Given the description of an element on the screen output the (x, y) to click on. 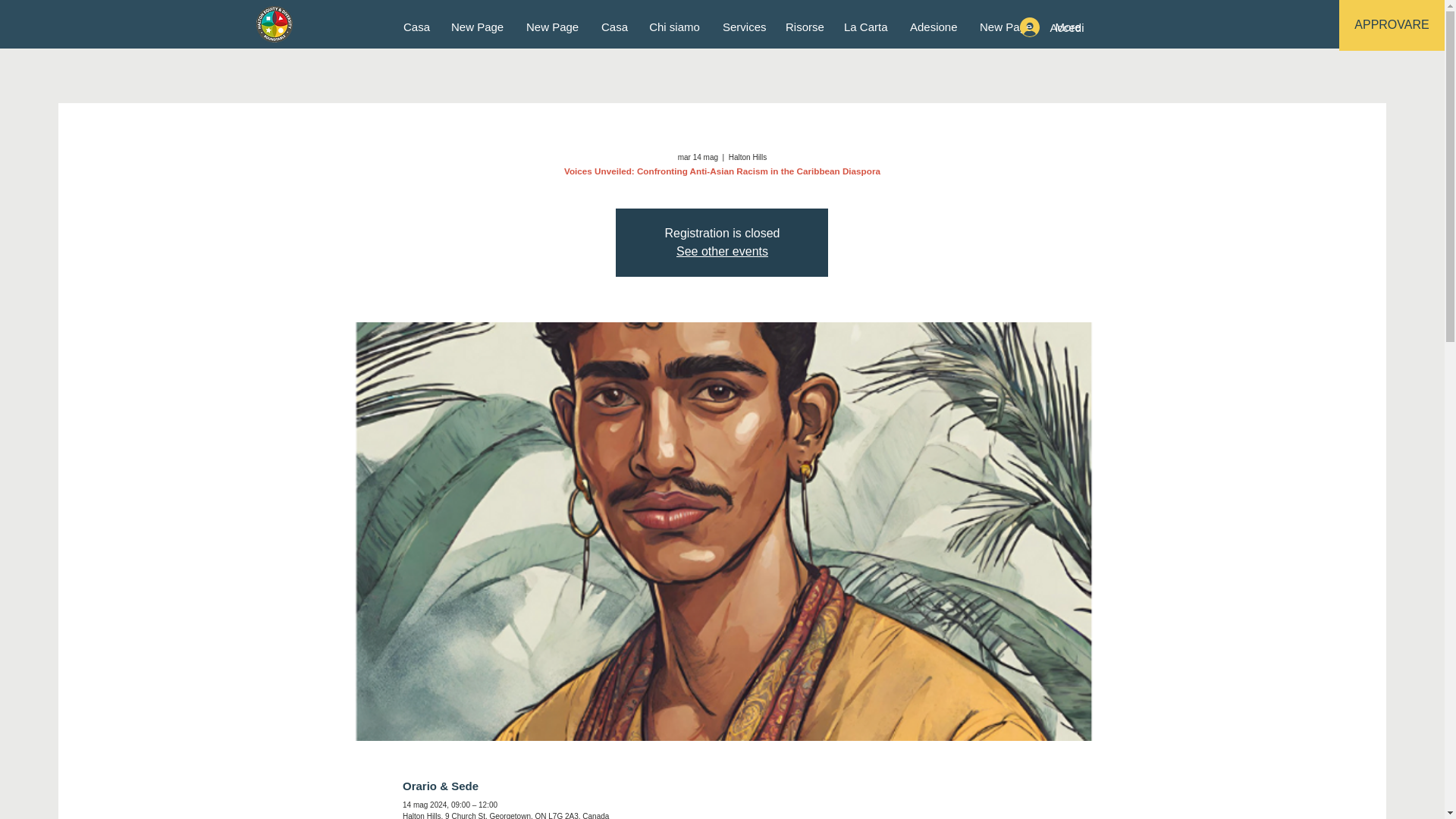
Chi siamo (674, 26)
New Page (552, 26)
Accedi (1049, 27)
New Page (1005, 26)
Casa (613, 26)
Adesione (933, 26)
Risorse (803, 26)
Casa (415, 26)
New Page (477, 26)
Services (742, 26)
La Carta (865, 26)
See other events (722, 250)
